Given the description of an element on the screen output the (x, y) to click on. 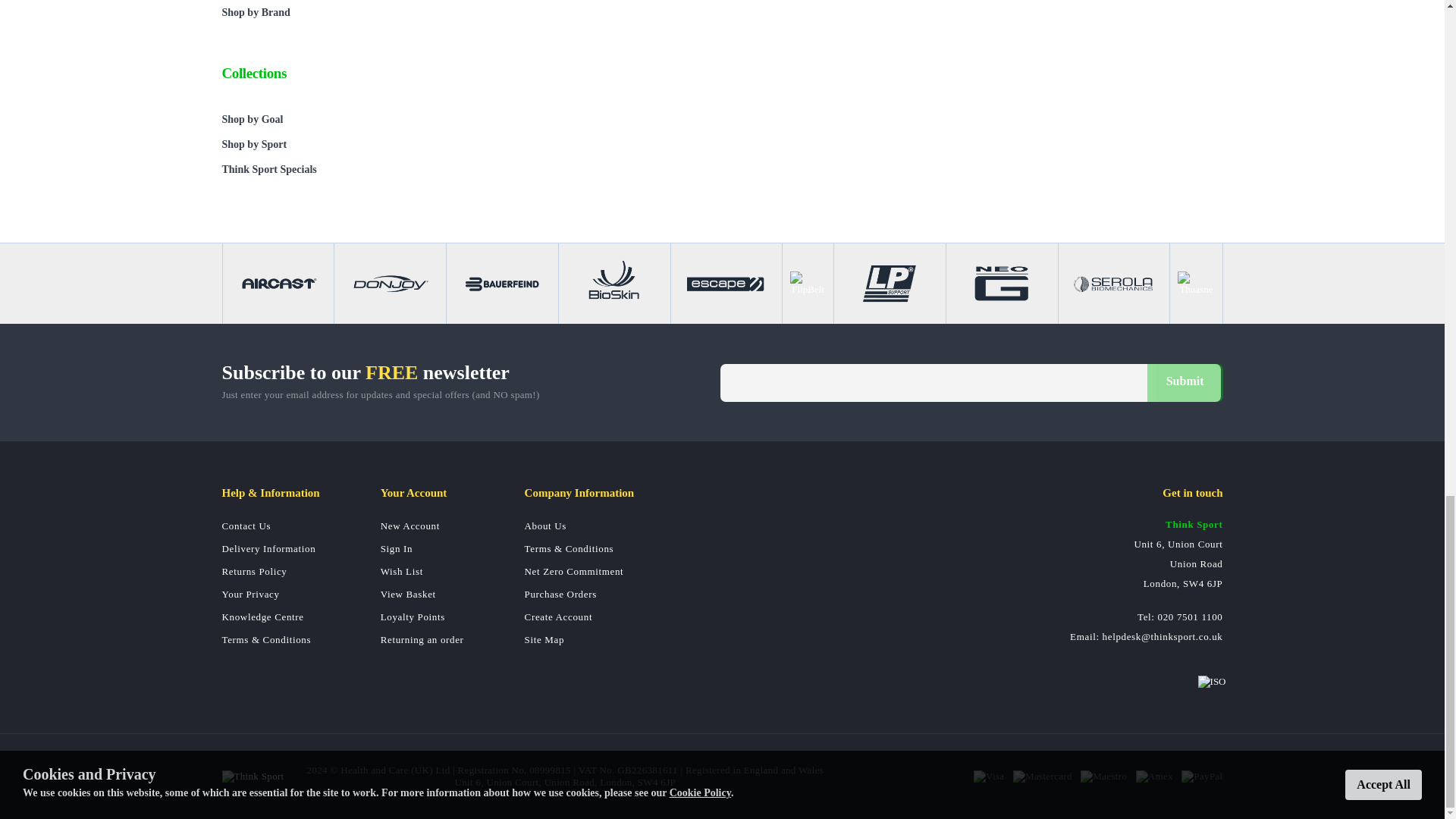
Serola (1113, 283)
Neo G (1001, 283)
BioSkin (614, 283)
FlipBelt (807, 283)
Shop by Brand (327, 12)
Think Sport Specials (327, 169)
Shop by Goal (327, 119)
LP Supports (889, 283)
Shop by Sport (327, 144)
Escape Fitness (726, 283)
